Given the description of an element on the screen output the (x, y) to click on. 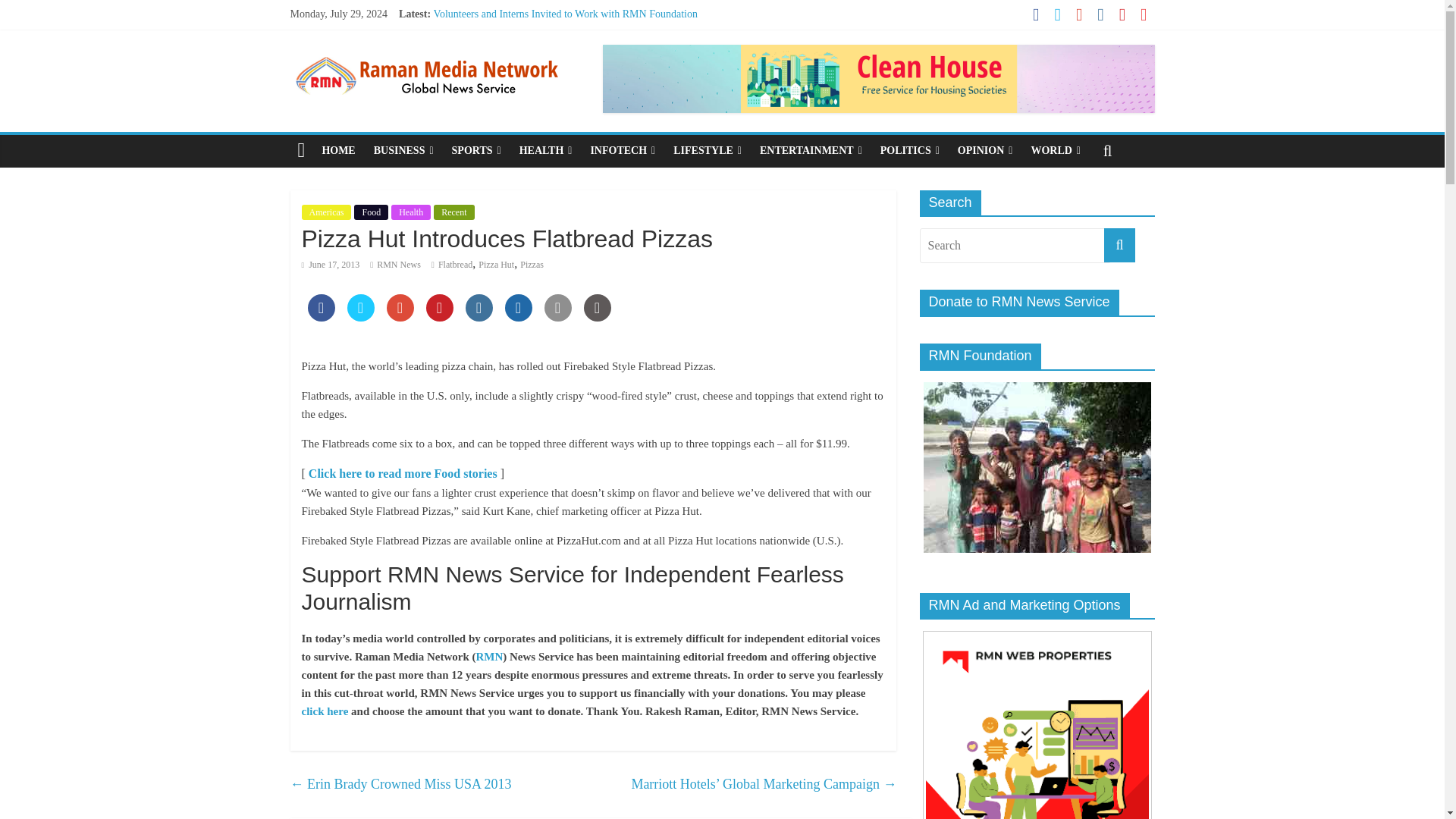
Print (597, 316)
Share on Twitter (360, 316)
Experts Urge End to Violence Against Ahmadis in Pakistan (559, 81)
RMN News (398, 264)
Share on Pinterest (439, 316)
Share on Facebook (320, 316)
Share on LinkedIn (479, 316)
Experts Urge End to Violence Against Ahmadis in Pakistan (559, 81)
LIFESTYLE (707, 151)
HEALTH (545, 151)
BUSINESS (403, 151)
Share it on Email (558, 316)
Raman Media Network (301, 151)
